Given the description of an element on the screen output the (x, y) to click on. 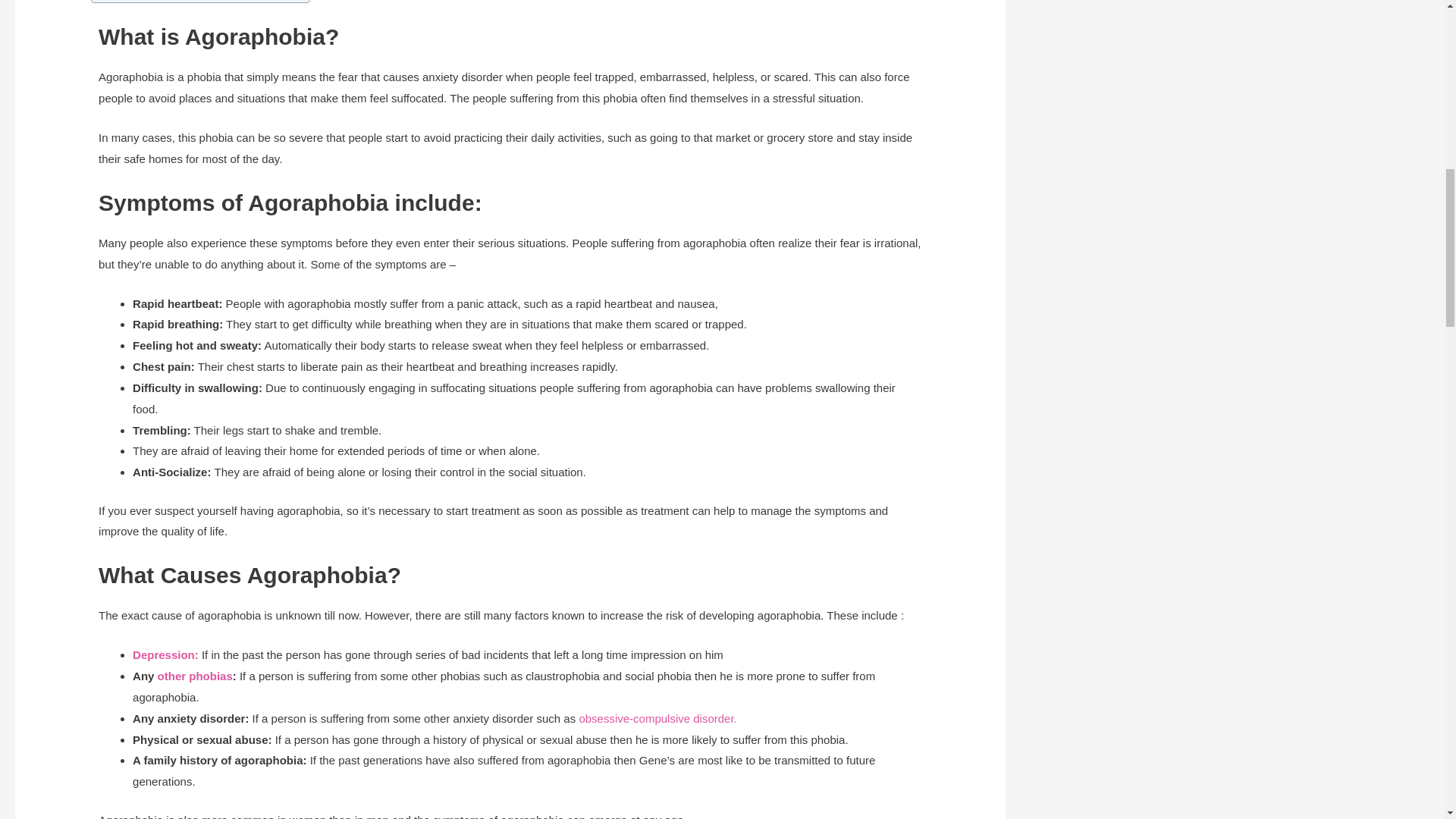
obsessive-compulsive disorder (655, 717)
other phobias (194, 675)
Depression: (165, 654)
